Given the description of an element on the screen output the (x, y) to click on. 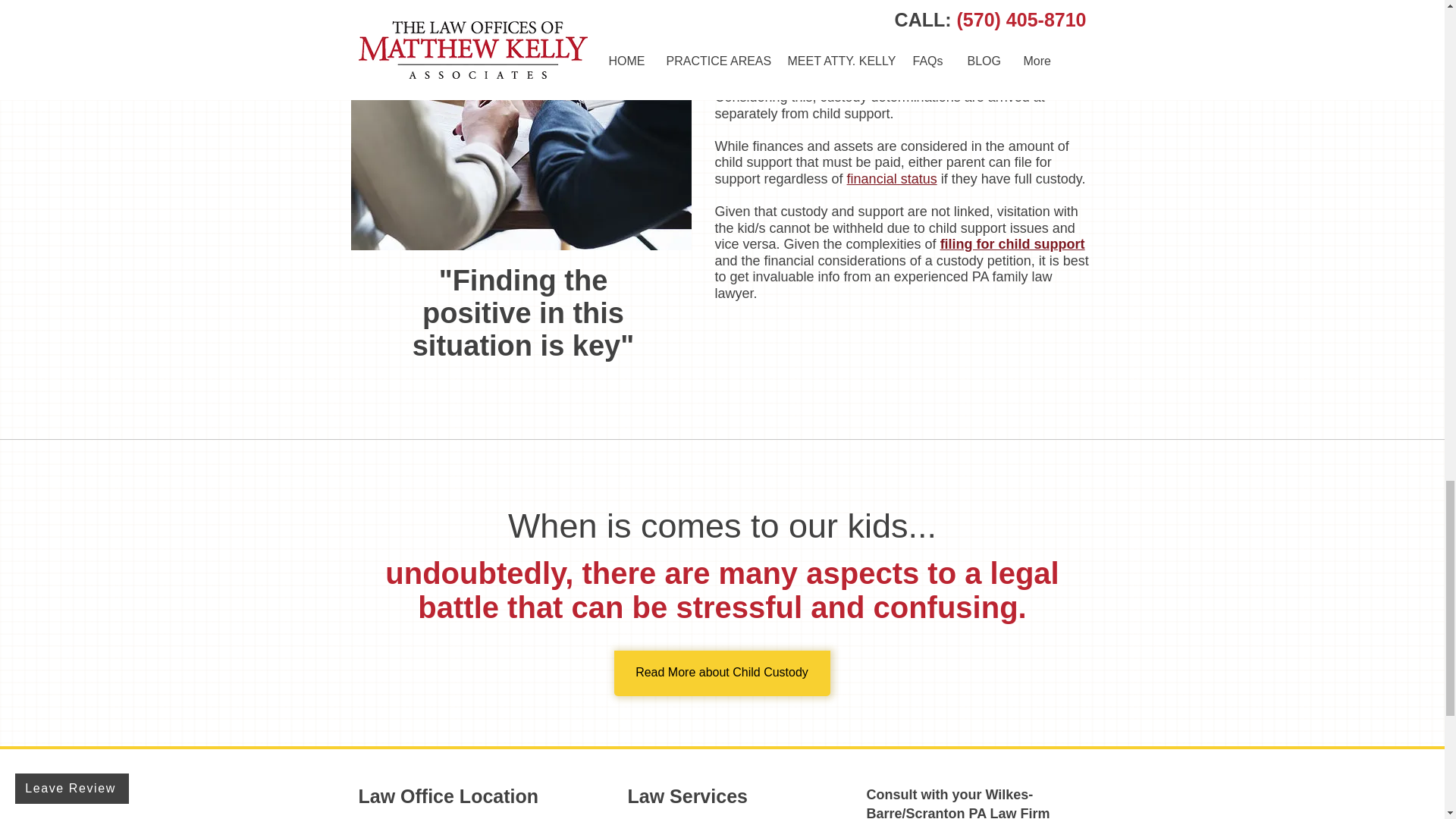
filing for child support (1012, 243)
Read More about Child Custody (721, 673)
financial status (892, 178)
